Given the description of an element on the screen output the (x, y) to click on. 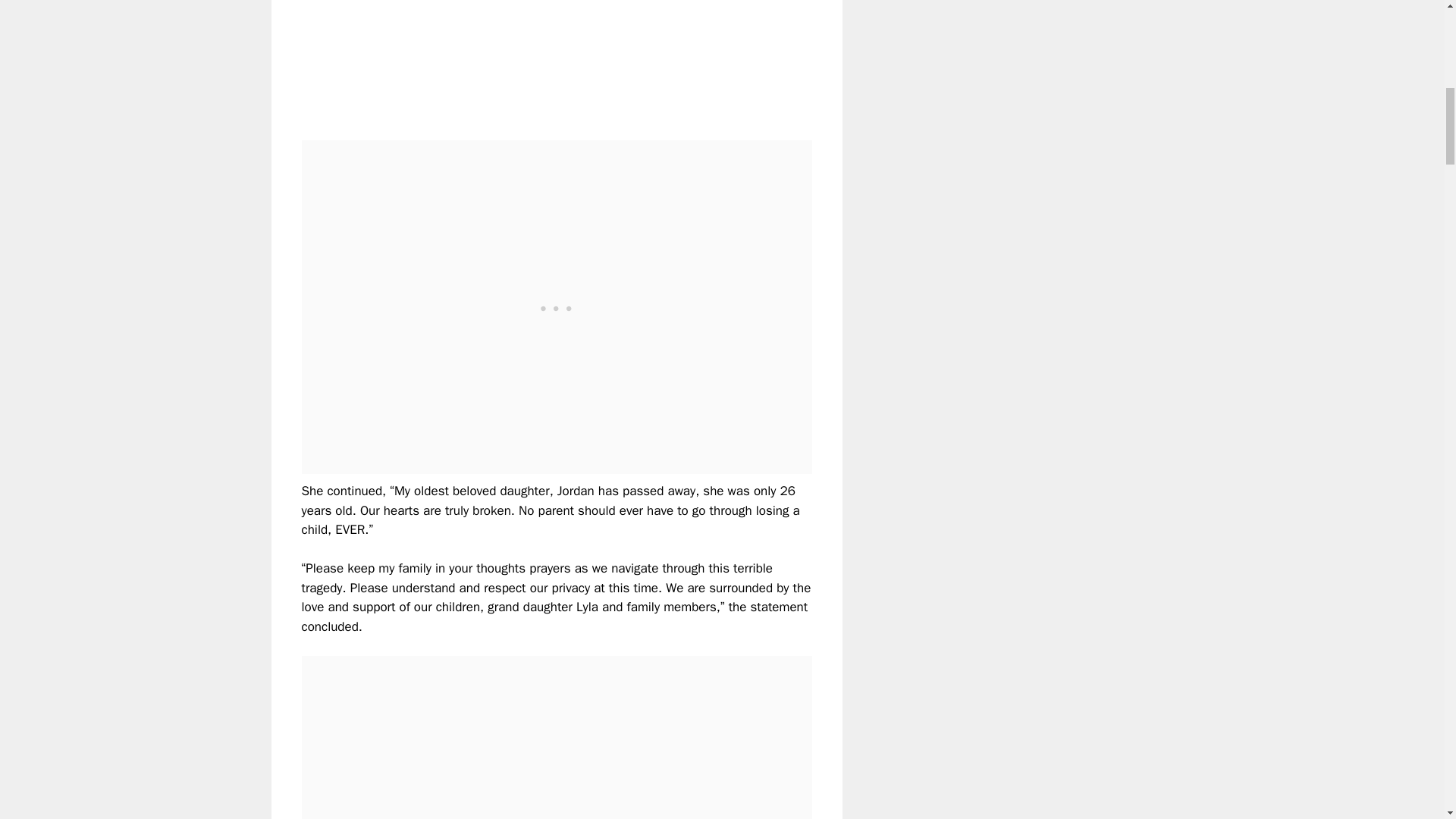
YouTube video player (513, 57)
